Given the description of an element on the screen output the (x, y) to click on. 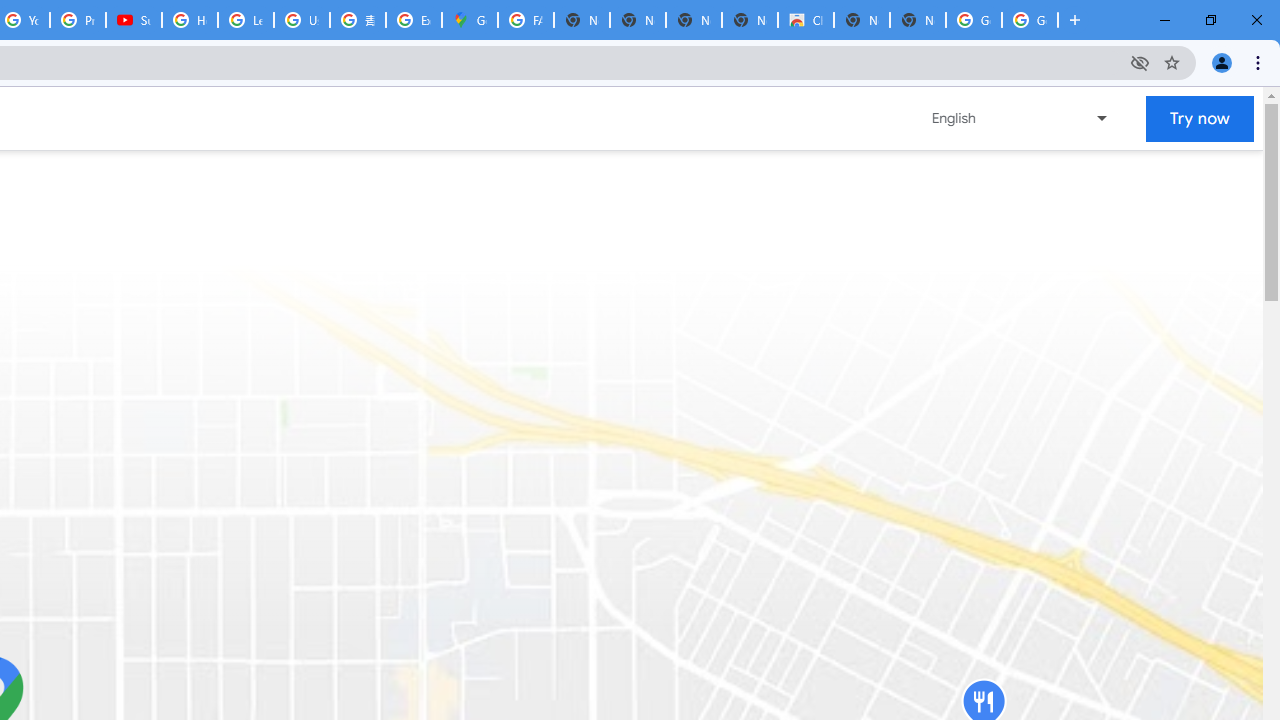
New Tab (917, 20)
Close (1256, 20)
Chrome (1260, 62)
Subscriptions - YouTube (134, 20)
Chrome Web Store (806, 20)
Minimize (1165, 20)
Google Images (973, 20)
You (1221, 62)
Google Maps (469, 20)
Bookmark this tab (1171, 62)
Try now (1199, 118)
